Given the description of an element on the screen output the (x, y) to click on. 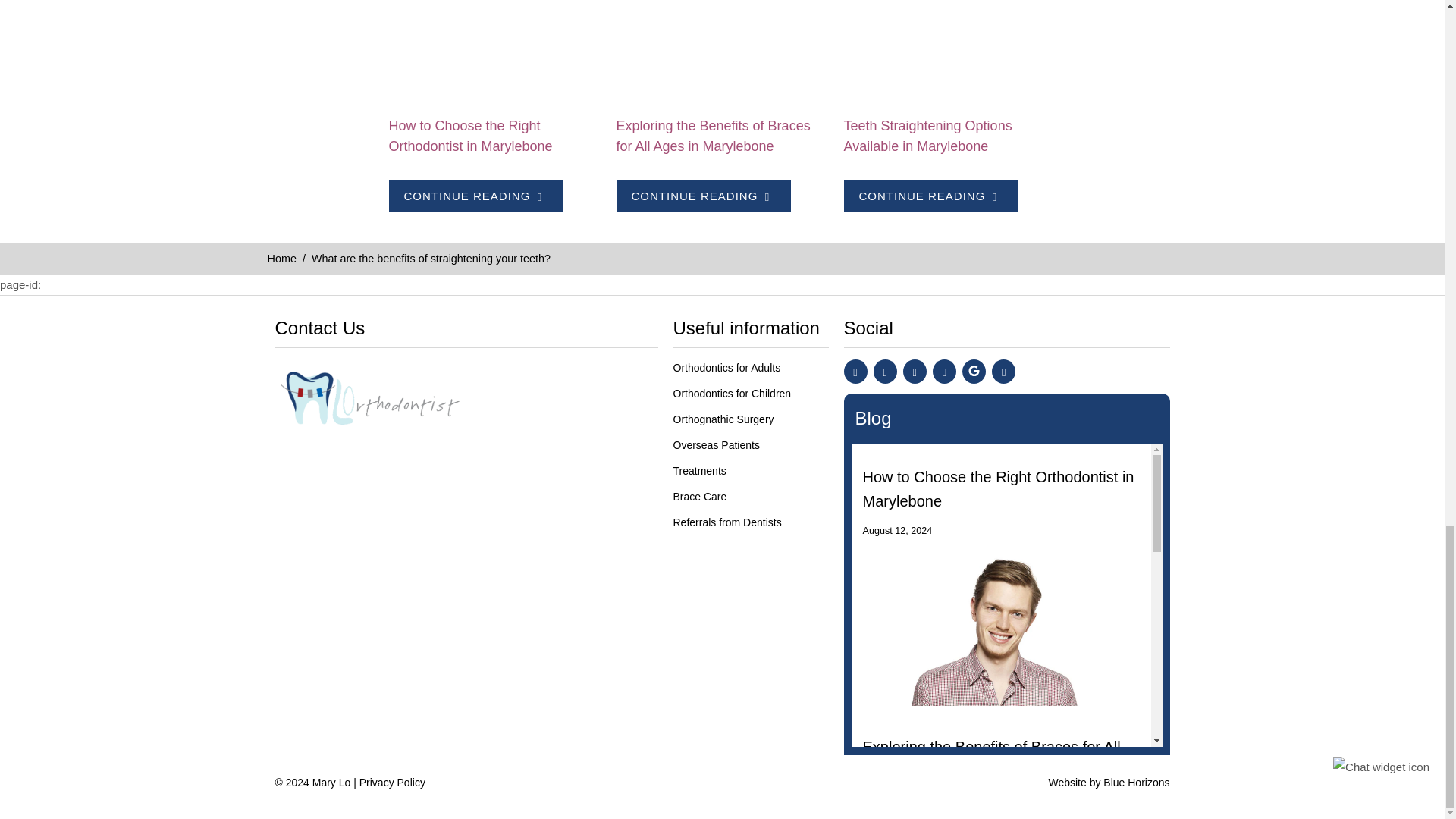
Exploring the Benefits of Braces for All Ages in Marylebone (702, 195)
Exploring the Benefits of Braces for All Ages in Marylebone (712, 135)
CONTINUE READING (475, 195)
How to Choose the Right Orthodontist in Marylebone (469, 135)
How to Choose the Right Orthodontist in Marylebone (475, 195)
How to Choose the Right Orthodontist in Marylebone (493, 52)
Exploring the Benefits of Braces for All Ages in Marylebone (721, 52)
How to Choose the Right Orthodontist in Marylebone (469, 135)
Teeth Straightening Options Available in Marylebone (949, 52)
Teeth Straightening Options Available in Marylebone (927, 135)
